Given the description of an element on the screen output the (x, y) to click on. 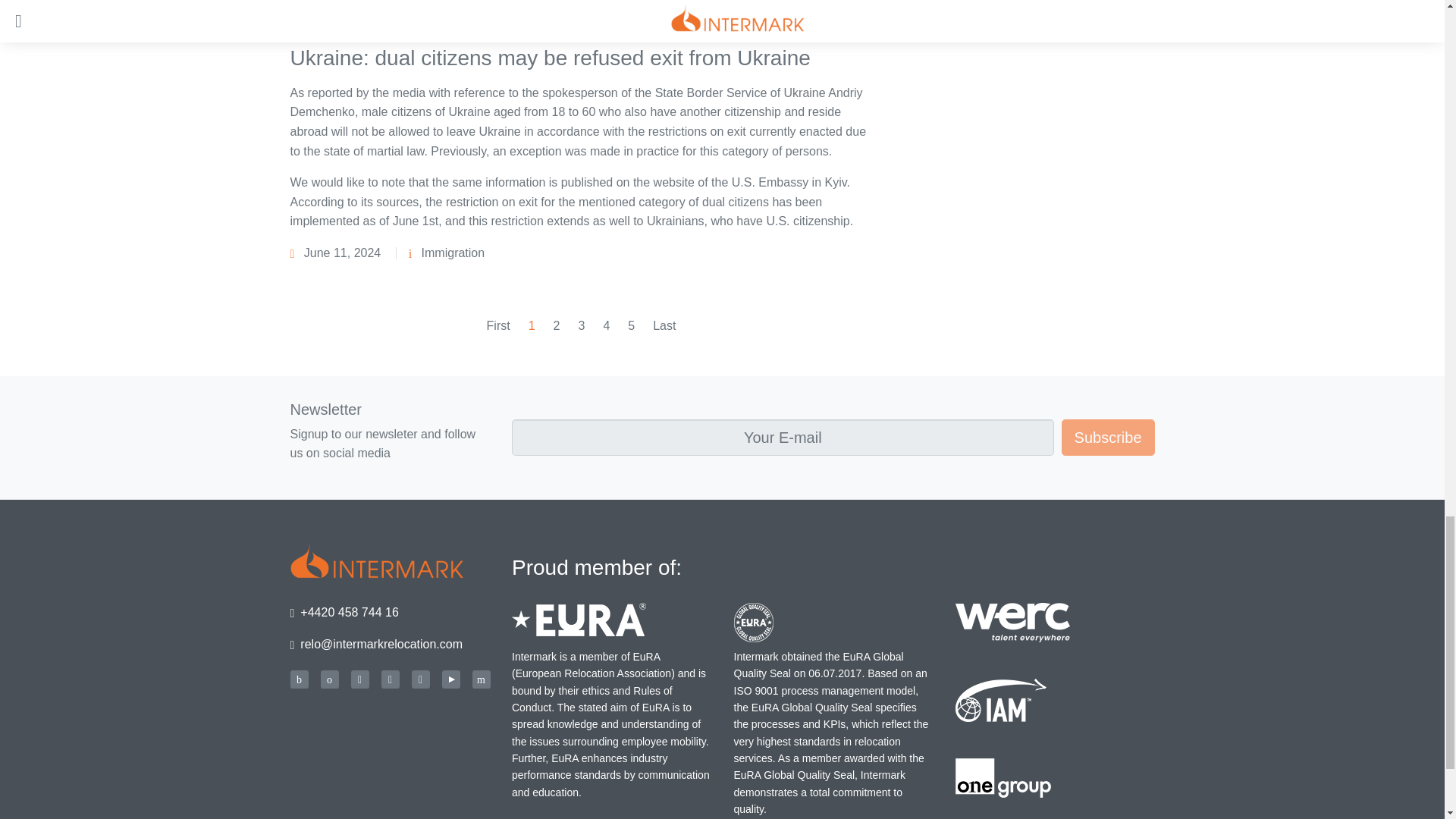
Linked In (389, 679)
Facebook (359, 679)
Telegram (480, 679)
Instagram (419, 679)
YouTube (450, 679)
Castbox.fm (298, 679)
Apple podcast (328, 679)
